Given the description of an element on the screen output the (x, y) to click on. 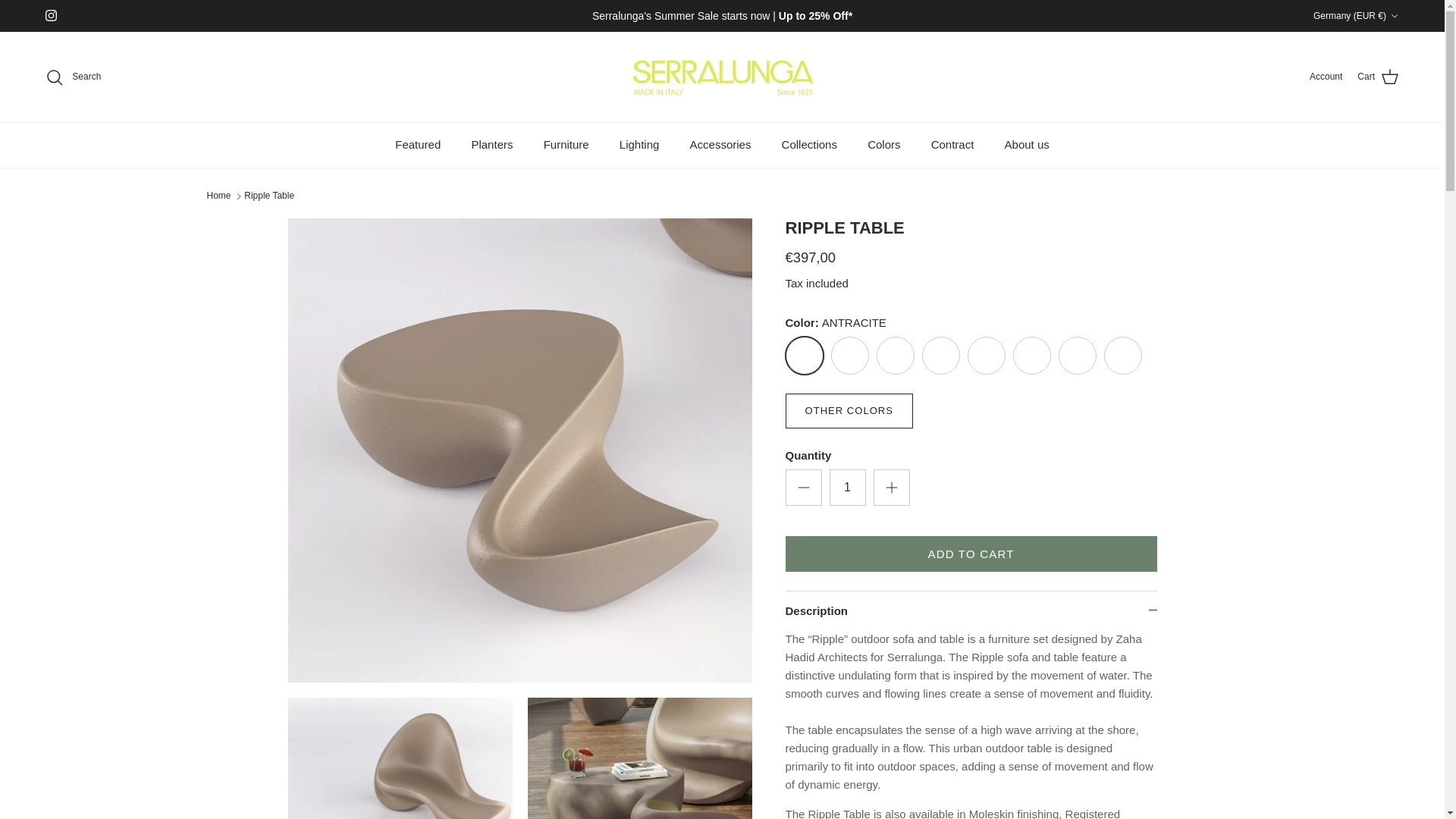
Account (1325, 76)
1 (847, 487)
Search (72, 76)
Serralunga  (721, 76)
Planters (491, 144)
Instagram (50, 15)
Furniture (565, 144)
Featured (417, 144)
Serralunga  on Instagram (50, 15)
Cart (1377, 76)
